Given the description of an element on the screen output the (x, y) to click on. 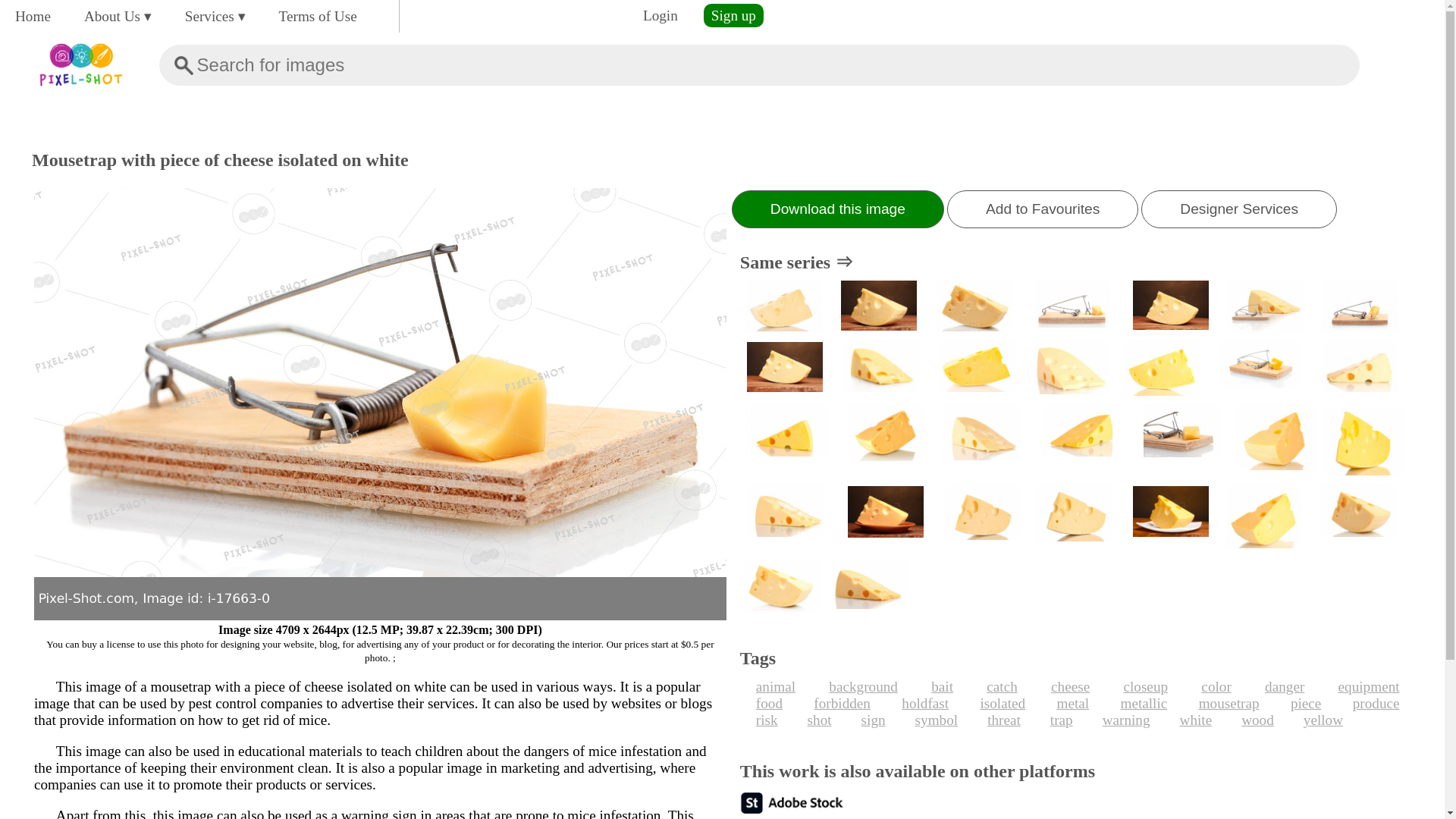
Login to your account using your email and password (659, 15)
Home (32, 15)
Home (32, 15)
Add to Favourites (1042, 209)
Designer Services (1238, 209)
Buyer registration (732, 15)
Login (659, 15)
Terms of Use (317, 15)
Sign up (732, 15)
Mousetrap with piece of cheese isolated on white (1071, 307)
About us (117, 15)
Mousetrap with cheese isolated on white (1265, 307)
Download this image (837, 209)
